Given the description of an element on the screen output the (x, y) to click on. 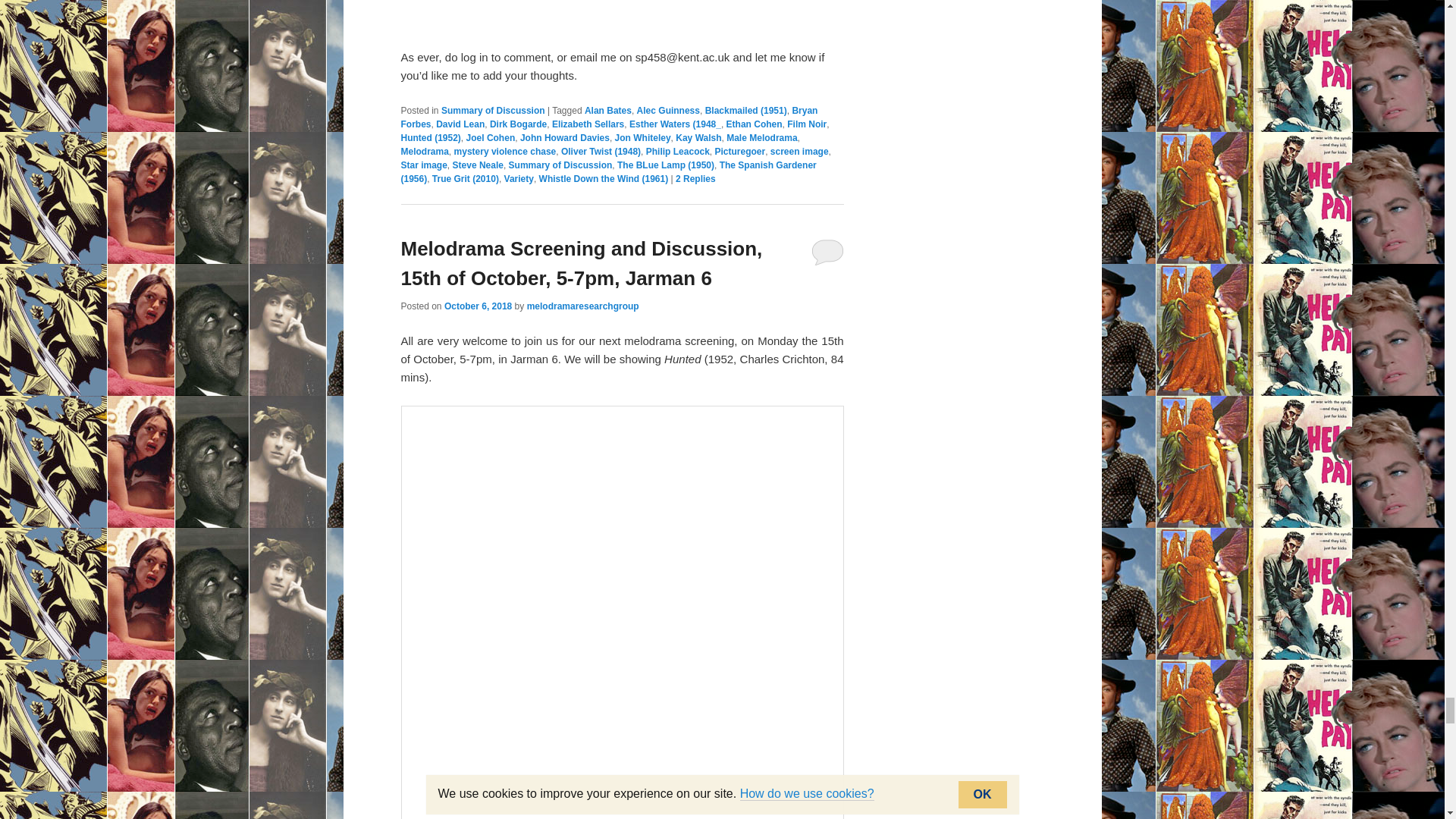
View all posts by melodramaresearchgroup (583, 306)
9:49 am (478, 306)
